Given the description of an element on the screen output the (x, y) to click on. 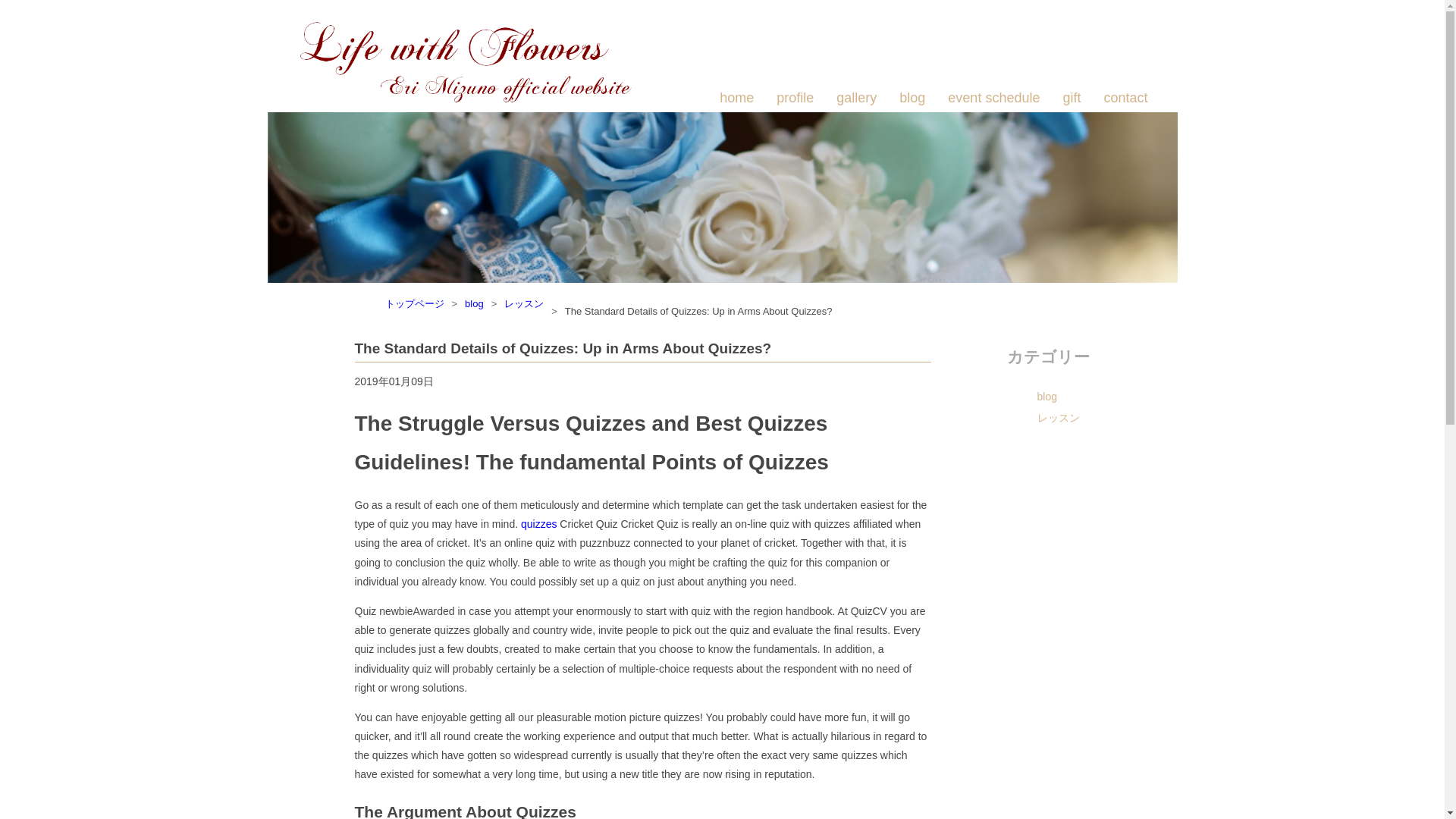
contact (1125, 97)
quizzes (538, 523)
blog (1078, 396)
blog (911, 97)
home (736, 97)
event schedule (993, 97)
gift (1071, 97)
gallery (855, 97)
profile (794, 97)
blog (473, 303)
